Given the description of an element on the screen output the (x, y) to click on. 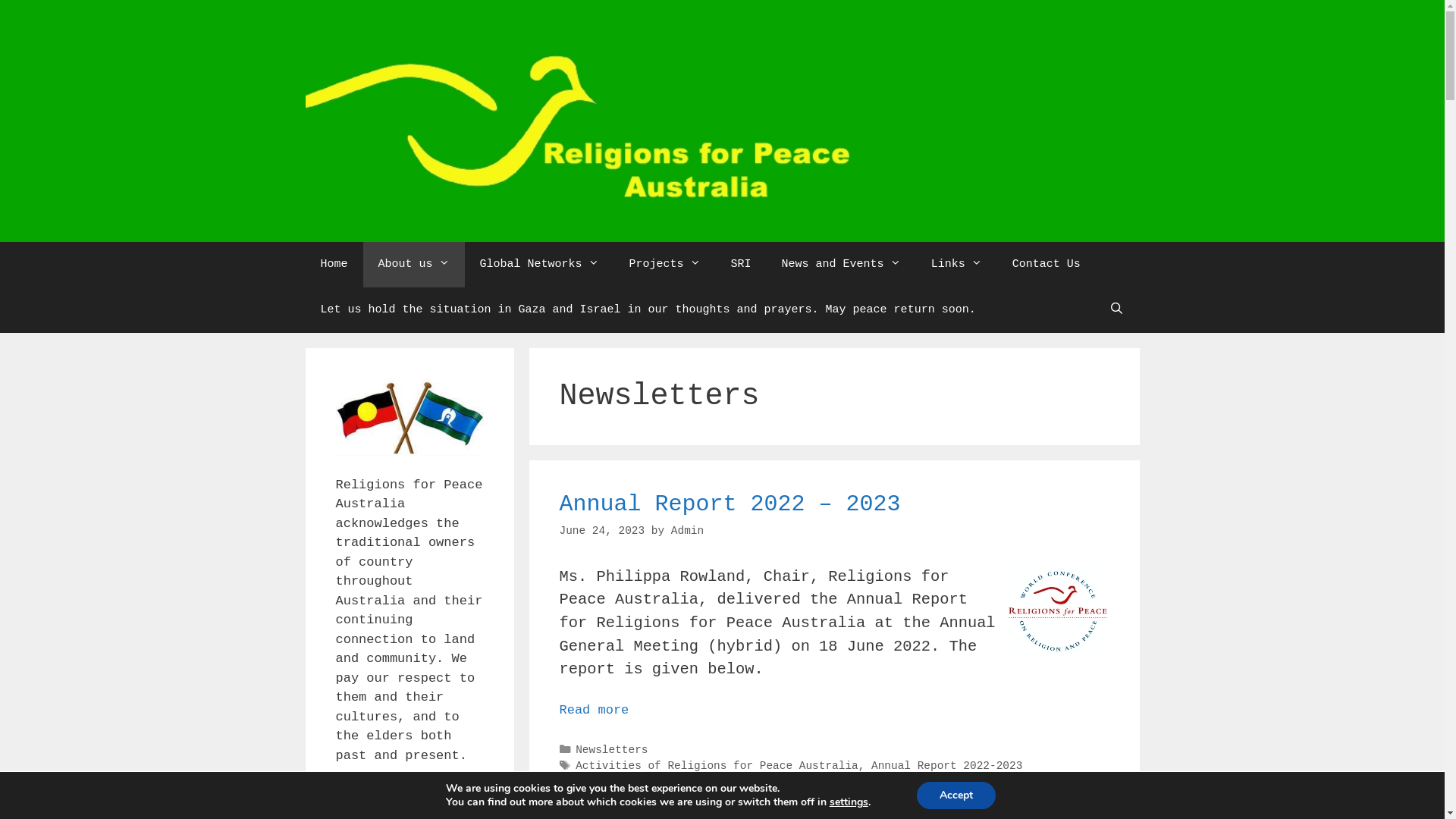
Global Networks Element type: text (539, 264)
Links Element type: text (956, 264)
About us Element type: text (413, 264)
Admin Element type: text (687, 530)
Newsletters Element type: text (611, 749)
Accept Element type: text (955, 795)
Read more Element type: text (594, 709)
Activities of Religions for Peace Australia Element type: text (716, 765)
SRI Element type: text (740, 264)
Contact Us Element type: text (1046, 264)
settings Element type: text (848, 802)
Annual Report 2022-2023 Element type: text (946, 765)
Home Element type: text (333, 264)
News and Events Element type: text (841, 264)
Projects Element type: text (664, 264)
